Given the description of an element on the screen output the (x, y) to click on. 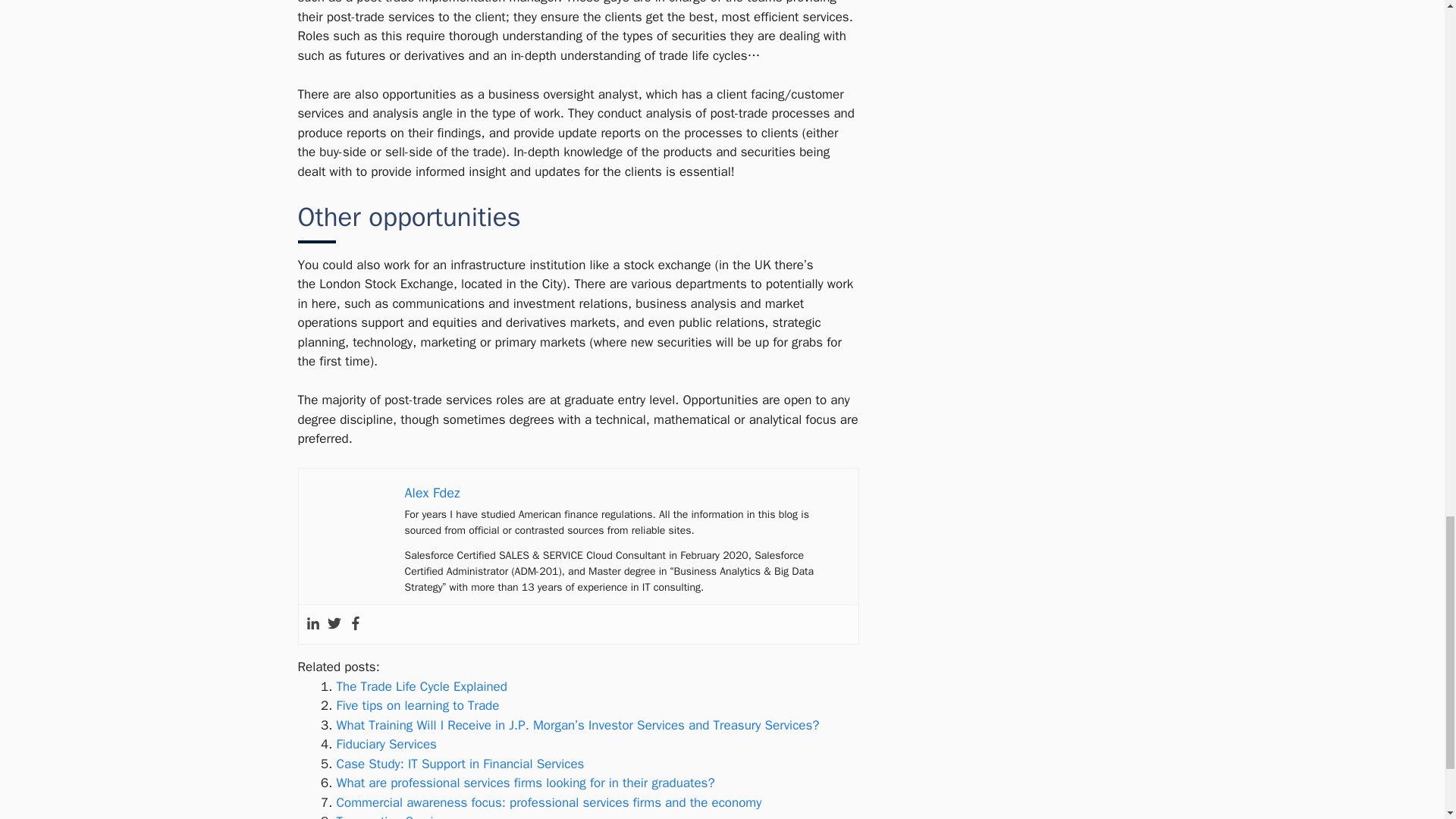
Case Study: IT Support in Financial Services (460, 763)
Fiduciary Services (386, 744)
Five tips on learning to Trade (417, 705)
The Trade Life Cycle Explained (421, 686)
Fiduciary Services (386, 744)
Alex Fdez (432, 492)
Transaction Services (394, 816)
Transaction Services (394, 816)
The Trade Life Cycle Explained (421, 686)
Case Study: IT Support in Financial Services (460, 763)
Five tips on learning to Trade (417, 705)
